Given the description of an element on the screen output the (x, y) to click on. 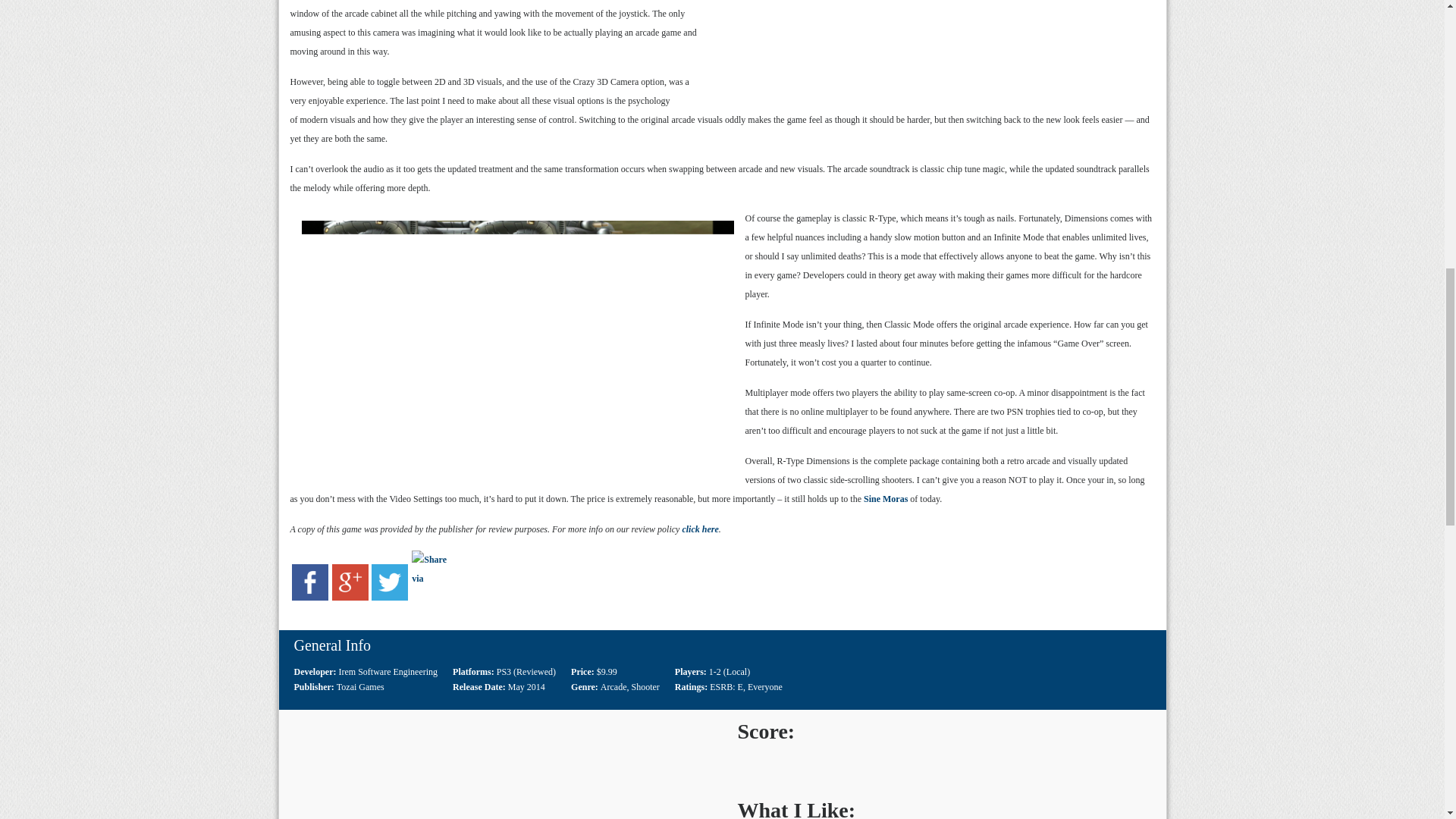
Share via Google (349, 597)
Share via Facebook (310, 597)
Share via Reddit (430, 597)
Share via Twitter (389, 597)
